Given the description of an element on the screen output the (x, y) to click on. 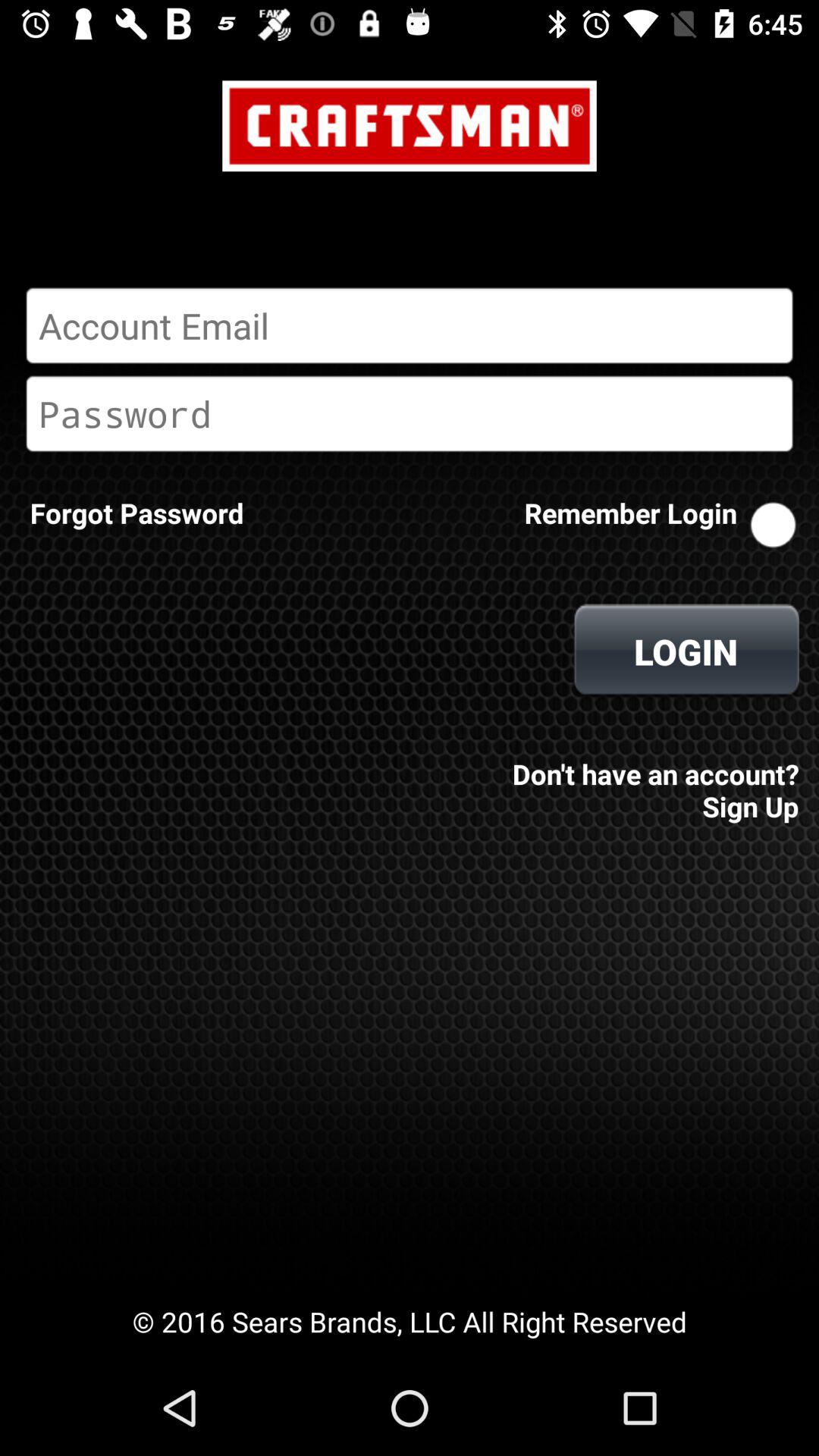
accound email (409, 325)
